Given the description of an element on the screen output the (x, y) to click on. 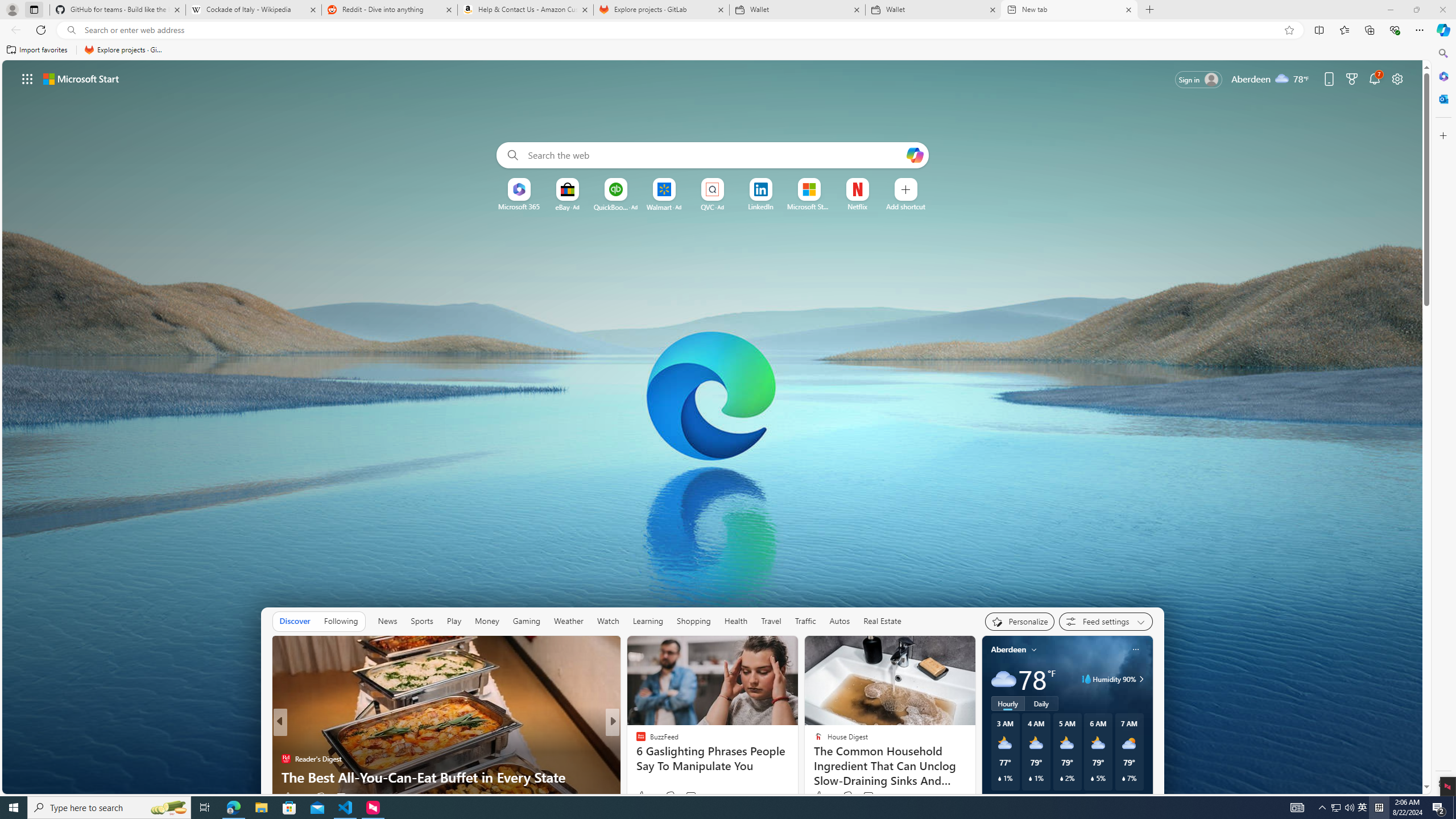
Task View (204, 807)
Watch (607, 621)
Weather (568, 621)
CNBC (635, 740)
Enter your search term (714, 155)
Traffic (804, 621)
Traffic (804, 621)
Gaming (526, 621)
Microsoft start (81, 78)
